Given the description of an element on the screen output the (x, y) to click on. 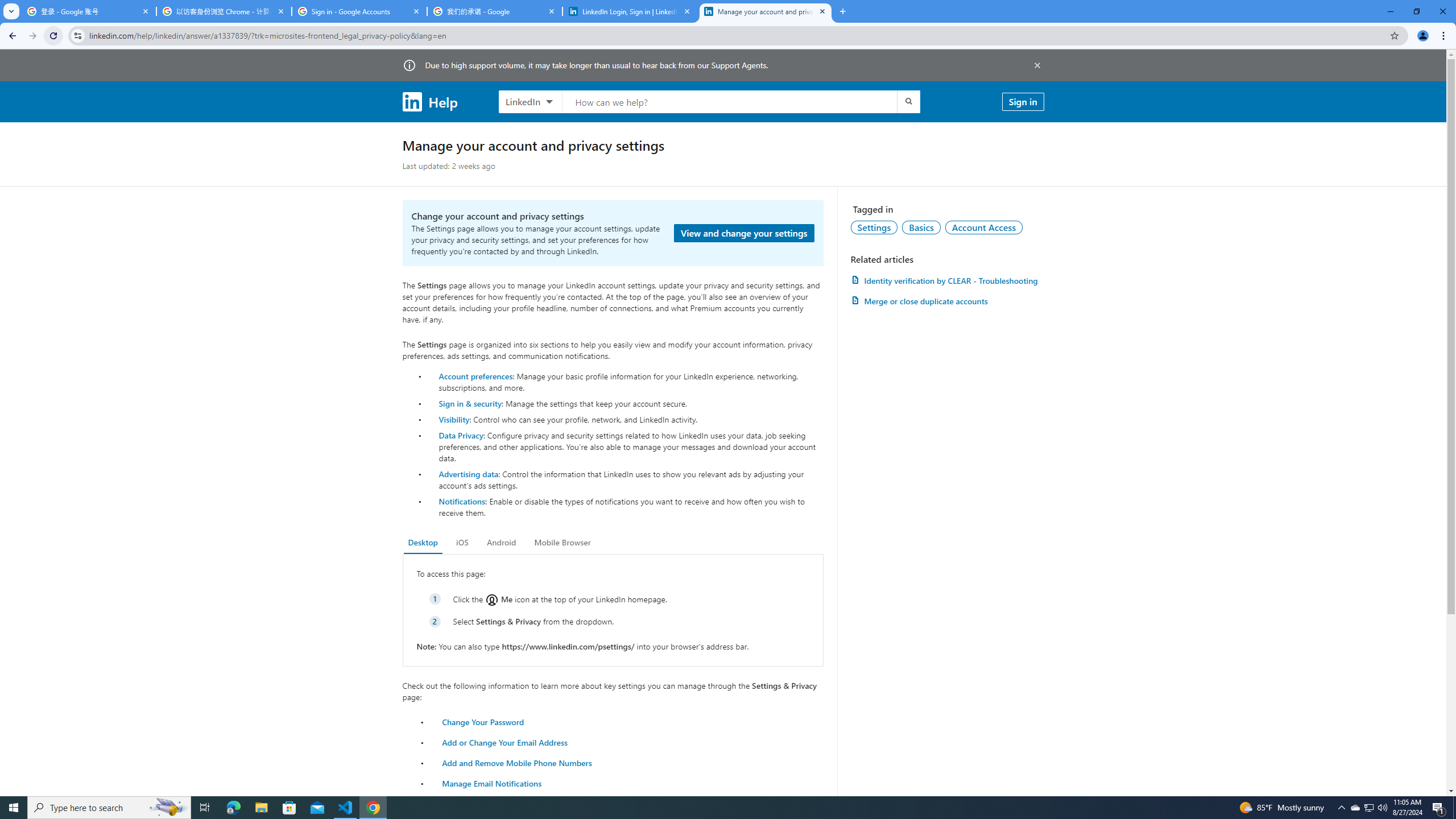
View and change your settings (743, 232)
Account Access (983, 227)
Manage your account and privacy settings | LinkedIn Help (765, 11)
Basics (921, 227)
Add or Change Your Email Address (504, 741)
Add and Remove Mobile Phone Numbers (517, 762)
Sign in & security (470, 402)
Identity verification by CLEAR - Troubleshooting (946, 280)
Submit search (908, 101)
AutomationID: article-link-a1337200 (946, 300)
